Given the description of an element on the screen output the (x, y) to click on. 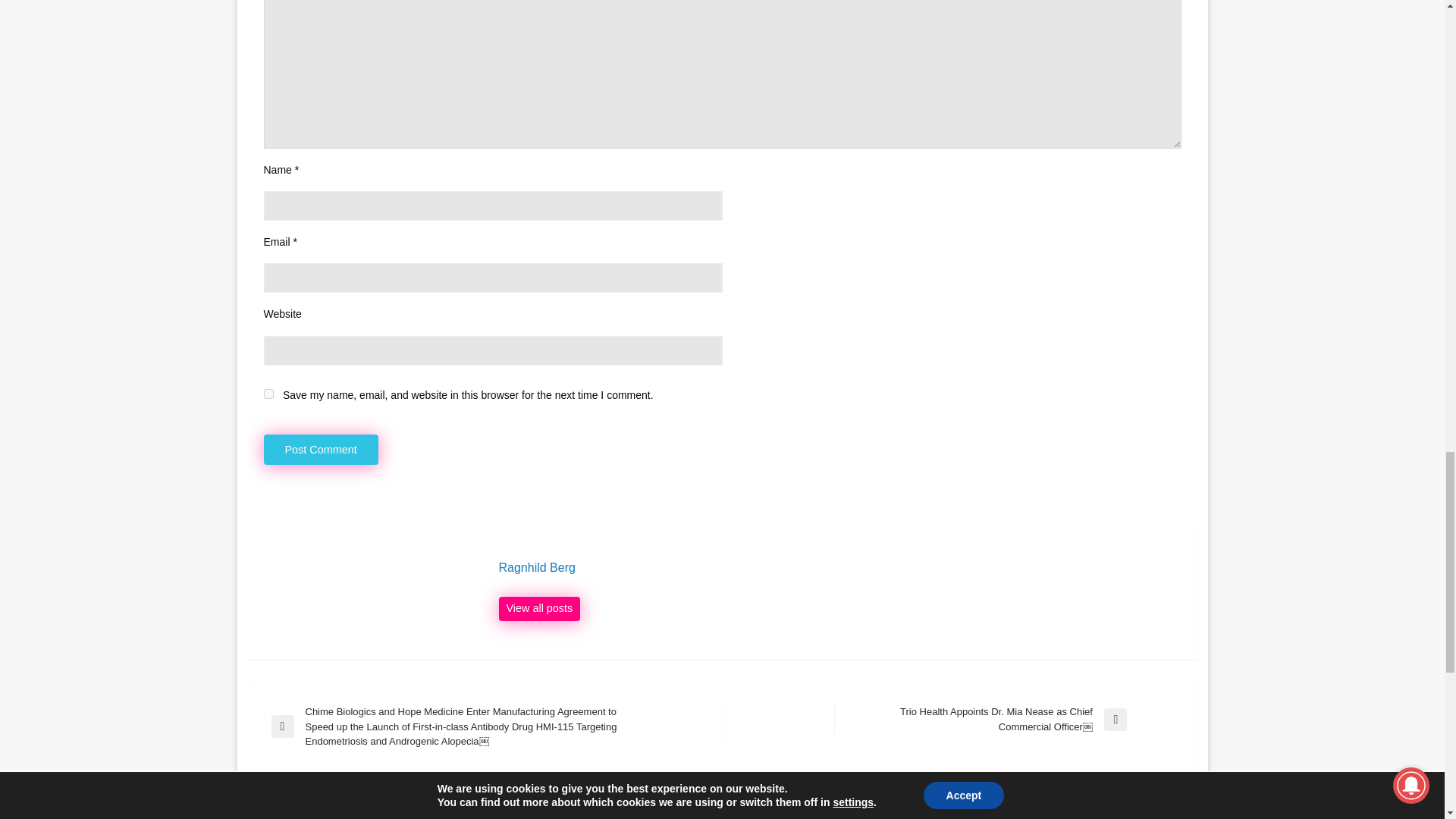
Ragnhild Berg (839, 567)
Post Comment (320, 450)
yes (268, 393)
Ragnhild Berg (539, 608)
